Given the description of an element on the screen output the (x, y) to click on. 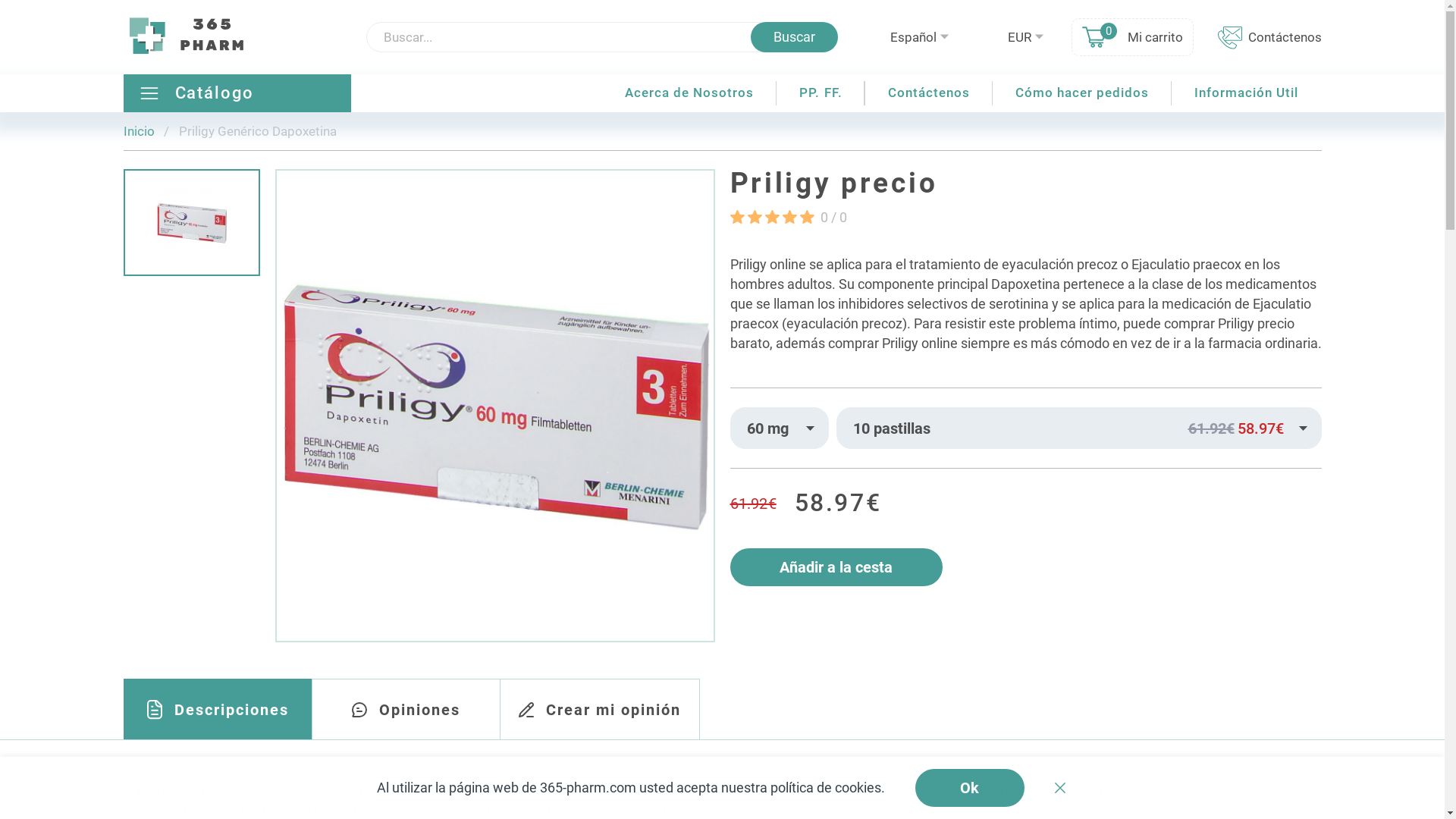
Acerca de Nosotros Element type: text (689, 93)
Ok Element type: text (968, 787)
Inicio Element type: text (137, 130)
EUR Element type: text (1025, 36)
PP. FF. Element type: text (820, 93)
Buscar Element type: text (793, 36)
Opiniones Element type: text (405, 708)
Descripciones Element type: text (217, 708)
0
Mi carrito Element type: text (1131, 37)
